Given the description of an element on the screen output the (x, y) to click on. 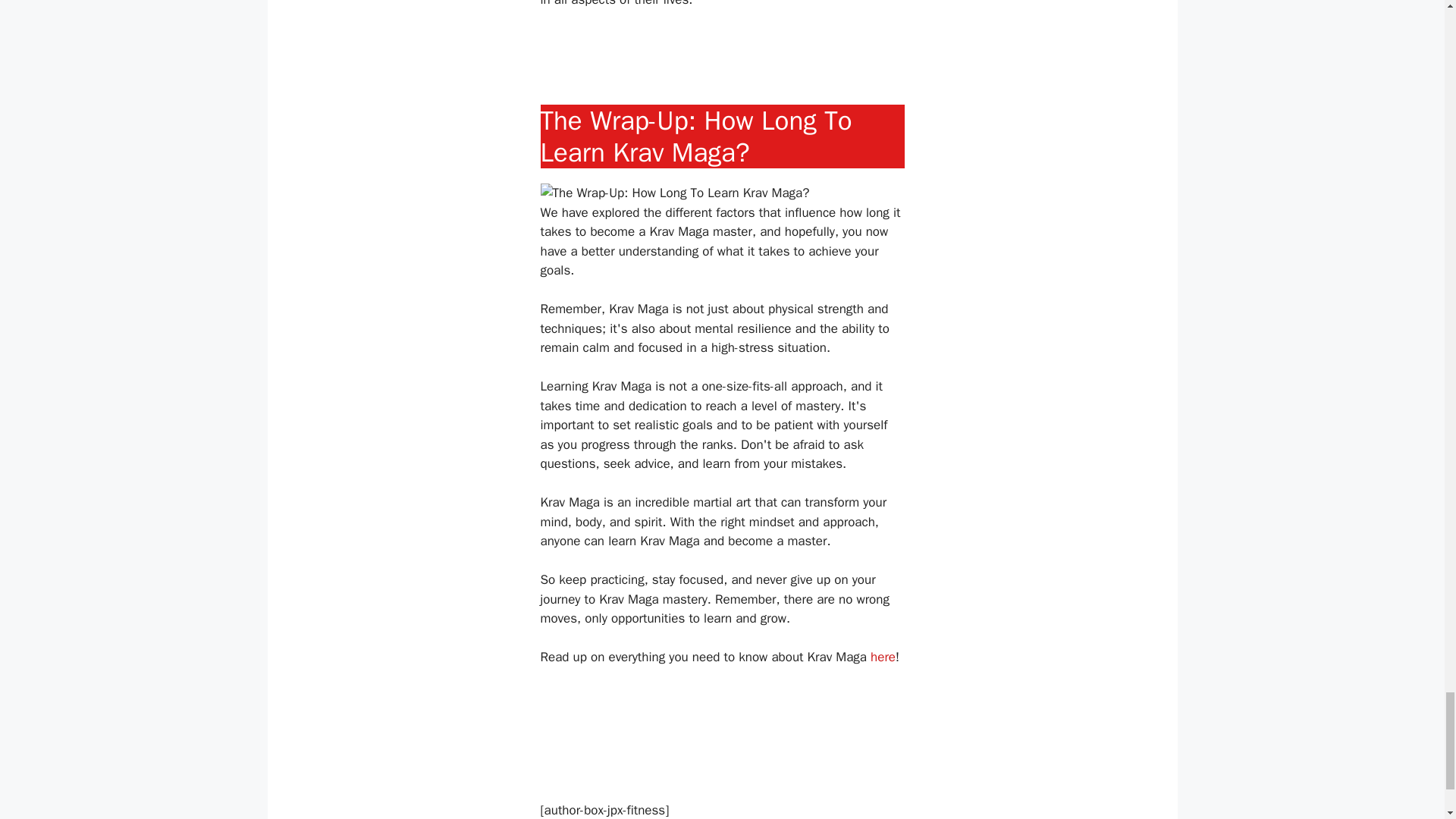
here (882, 657)
